Given the description of an element on the screen output the (x, y) to click on. 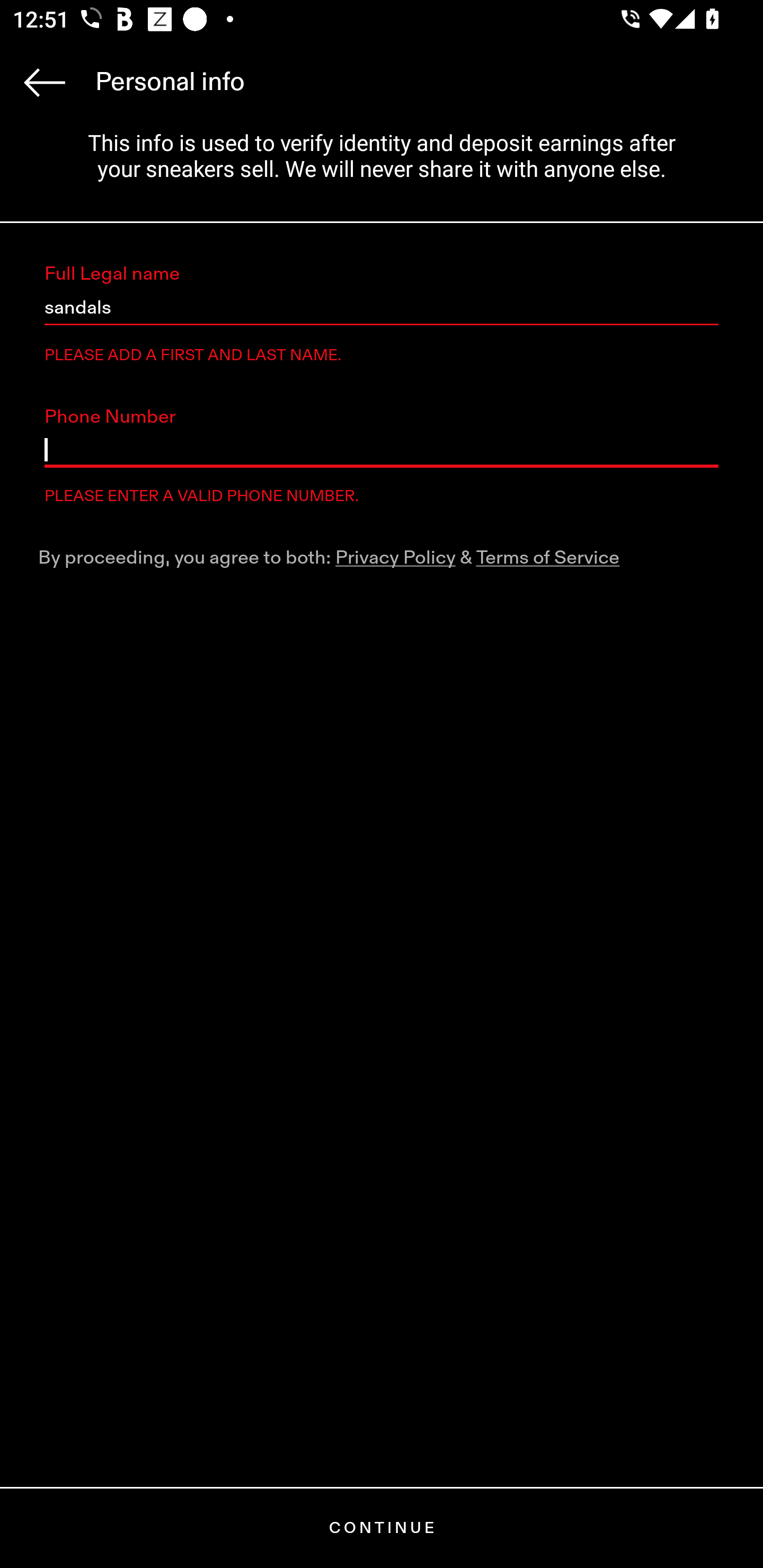
Navigate up (44, 82)
sandals (381, 308)
Phone Number (381, 449)
CONTINUE (381, 1528)
